Given the description of an element on the screen output the (x, y) to click on. 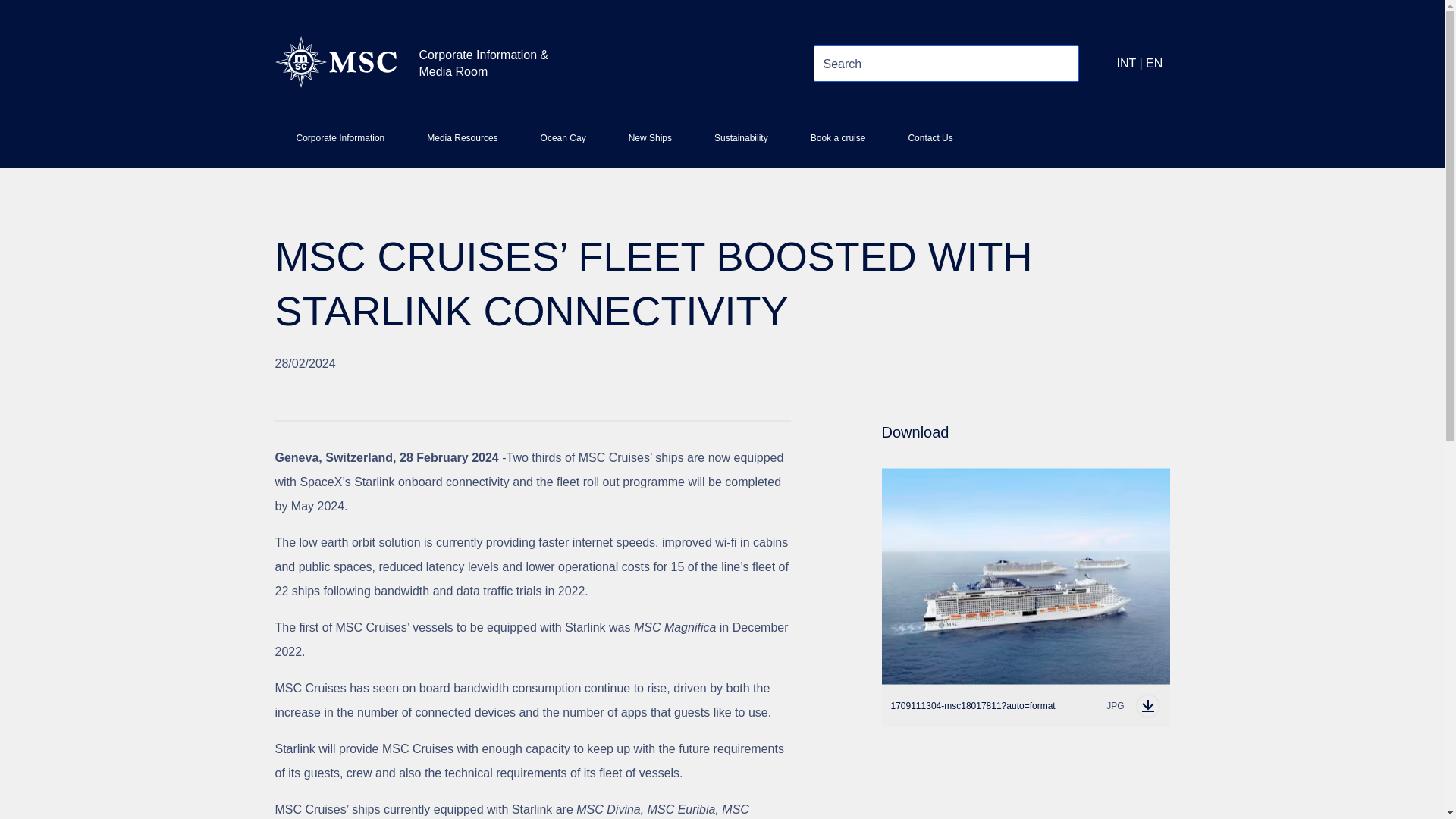
Sustainability (741, 143)
New Ships (650, 143)
Ocean Cay (563, 143)
Corporate Information (340, 143)
Media Resources (462, 143)
Book a cruise (837, 143)
Contact Us (930, 143)
